Given the description of an element on the screen output the (x, y) to click on. 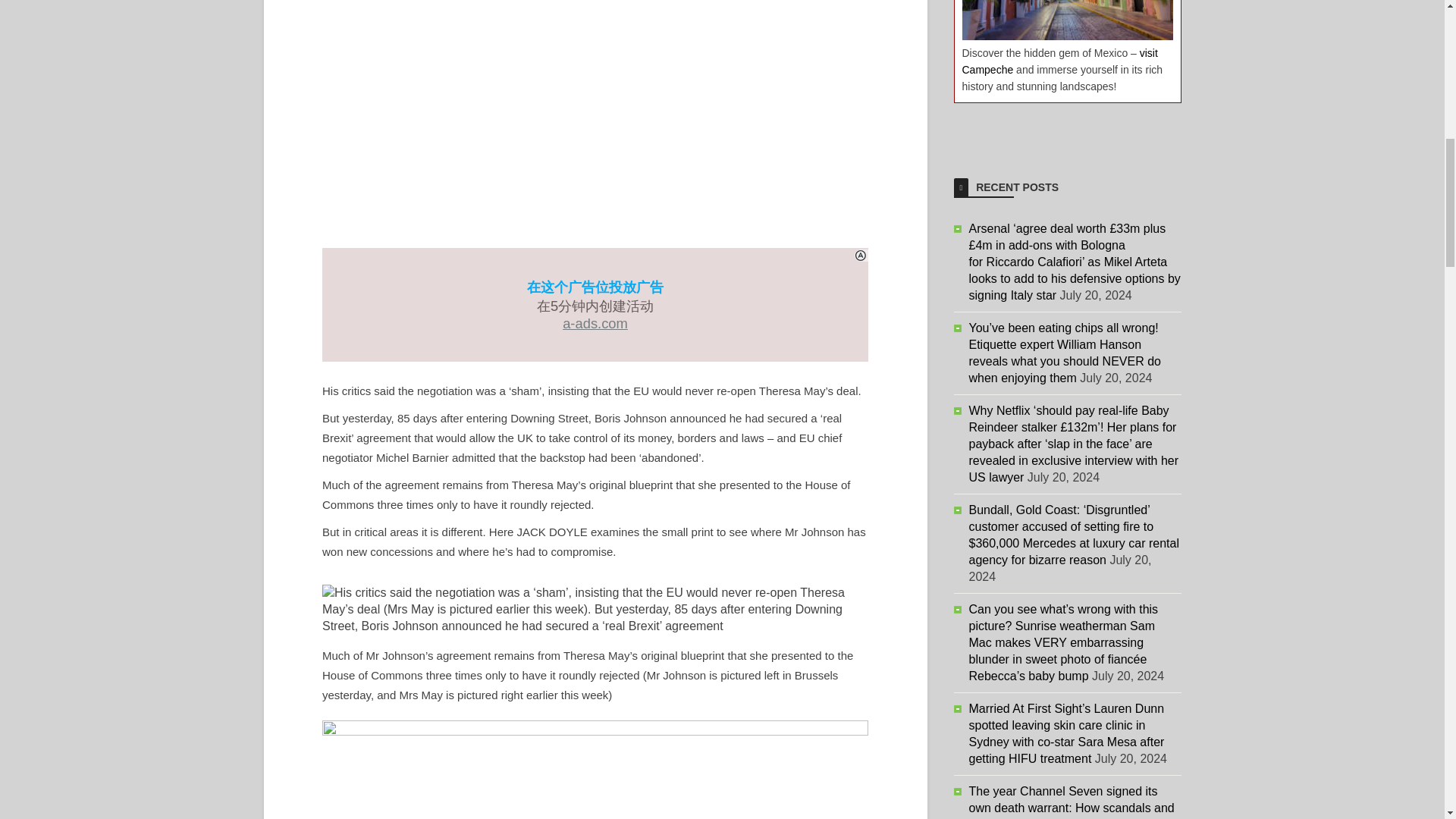
visit Campeche (1058, 61)
